Given the description of an element on the screen output the (x, y) to click on. 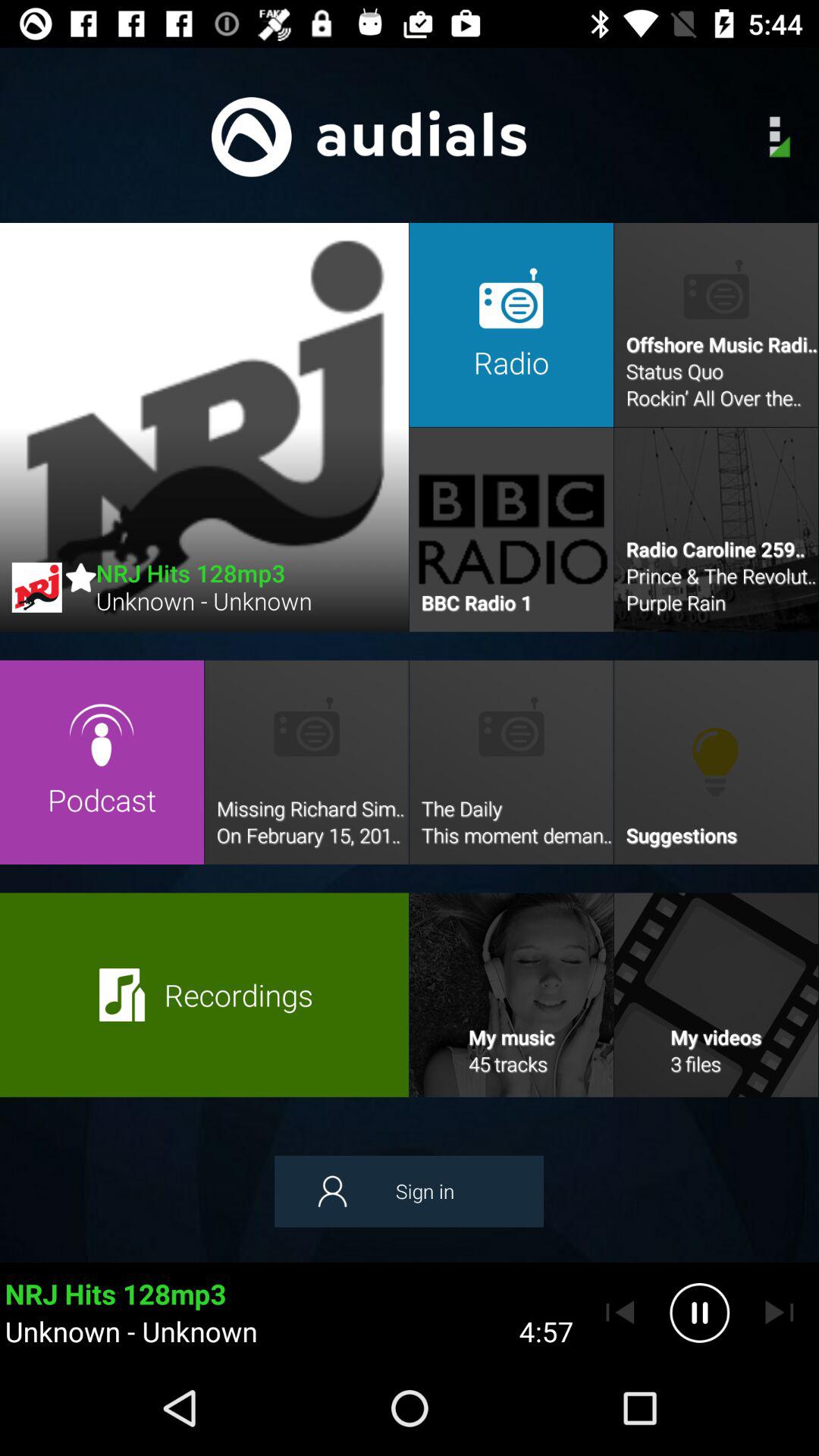
pause playback (699, 1312)
